Given the description of an element on the screen output the (x, y) to click on. 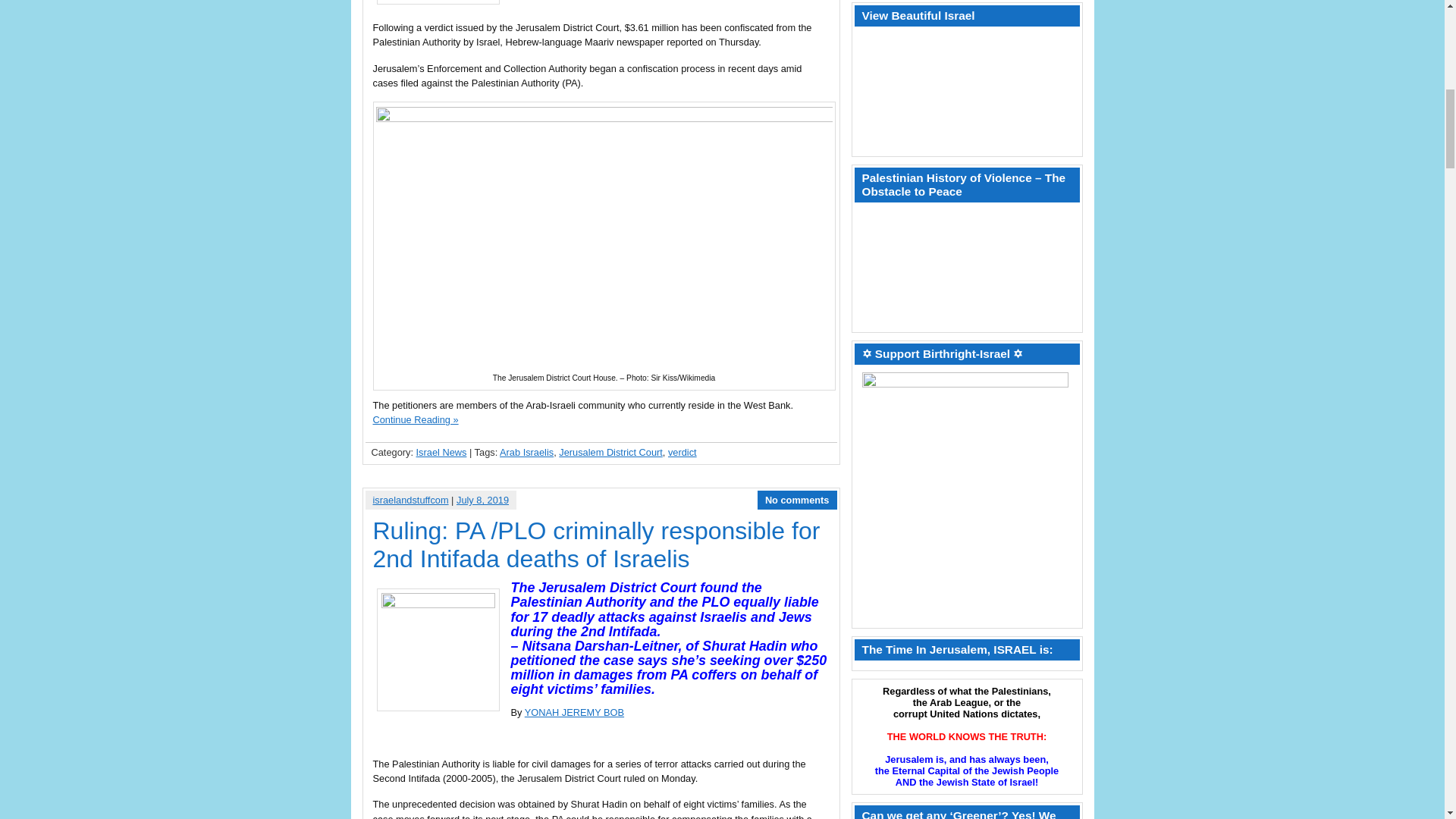
Posts by israelandstuffcom (410, 500)
